Given the description of an element on the screen output the (x, y) to click on. 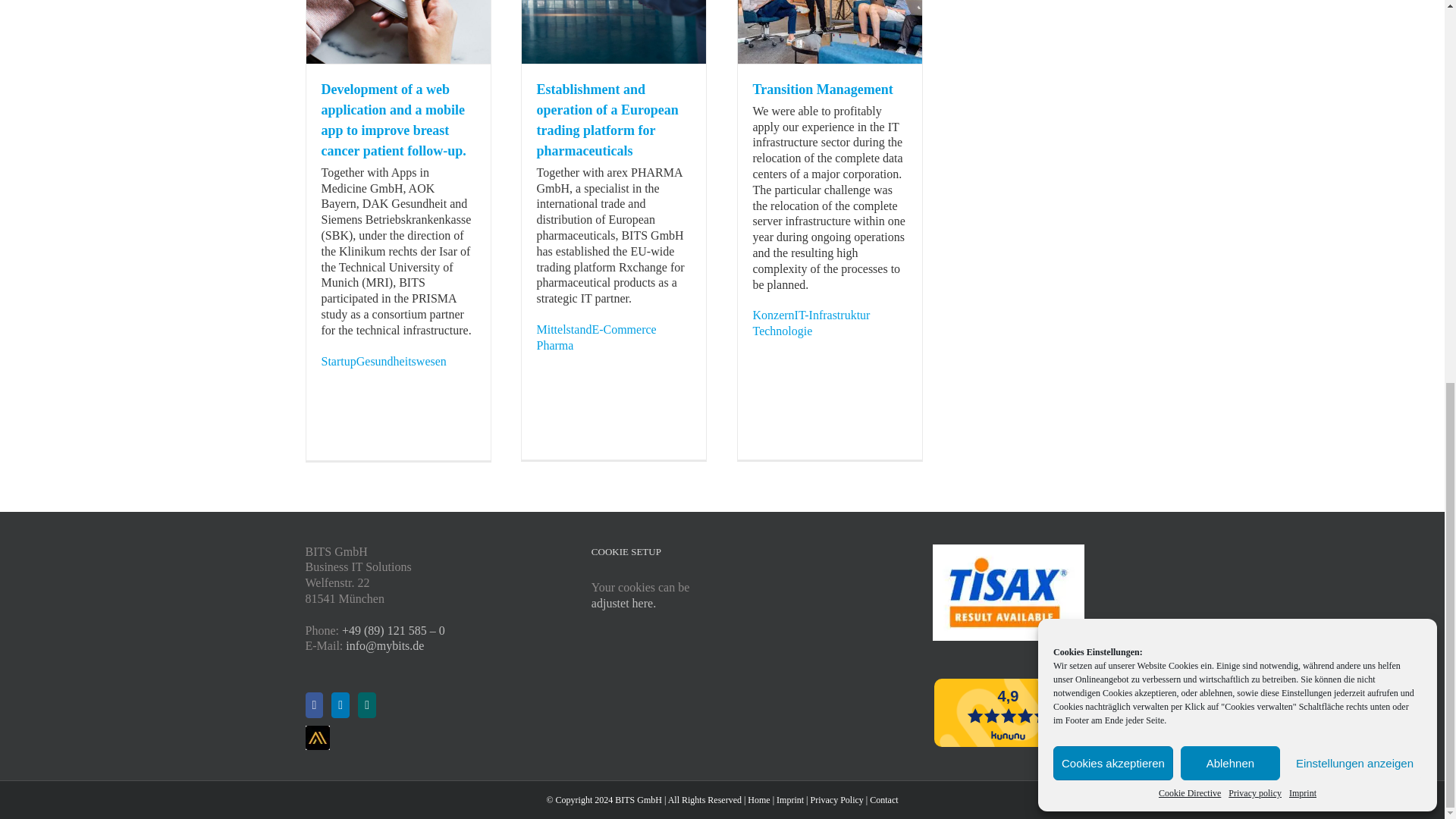
Cookies akzeptieren (1112, 45)
Einstellungen anzeigen (1354, 45)
Privacy policy (1254, 76)
Ablehnen (1229, 45)
Imprint (1302, 76)
Cookie Directive (1189, 76)
